Given the description of an element on the screen output the (x, y) to click on. 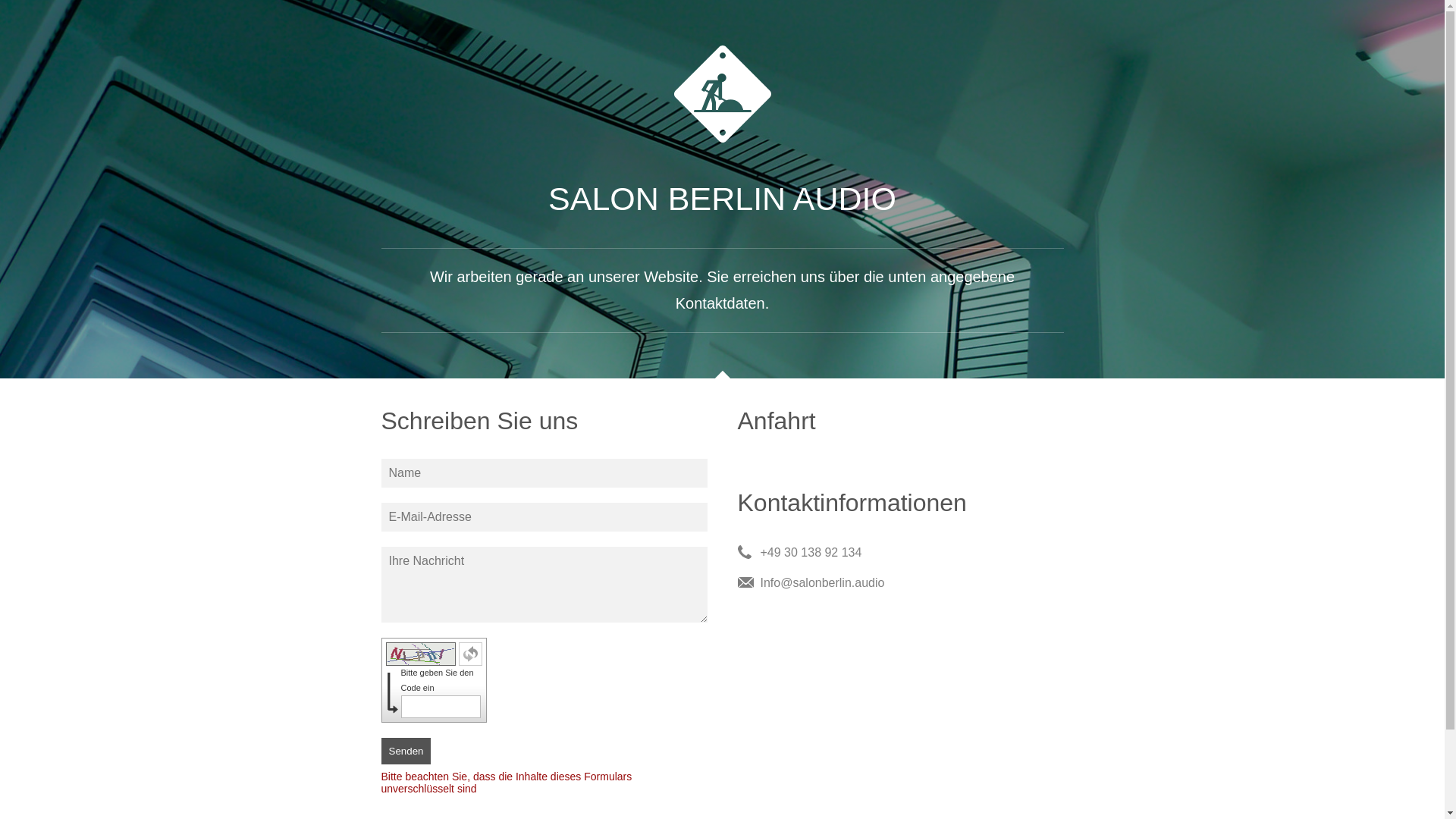
Senden Element type: text (405, 750)
Neuen Code generieren Element type: hover (469, 653)
